Given the description of an element on the screen output the (x, y) to click on. 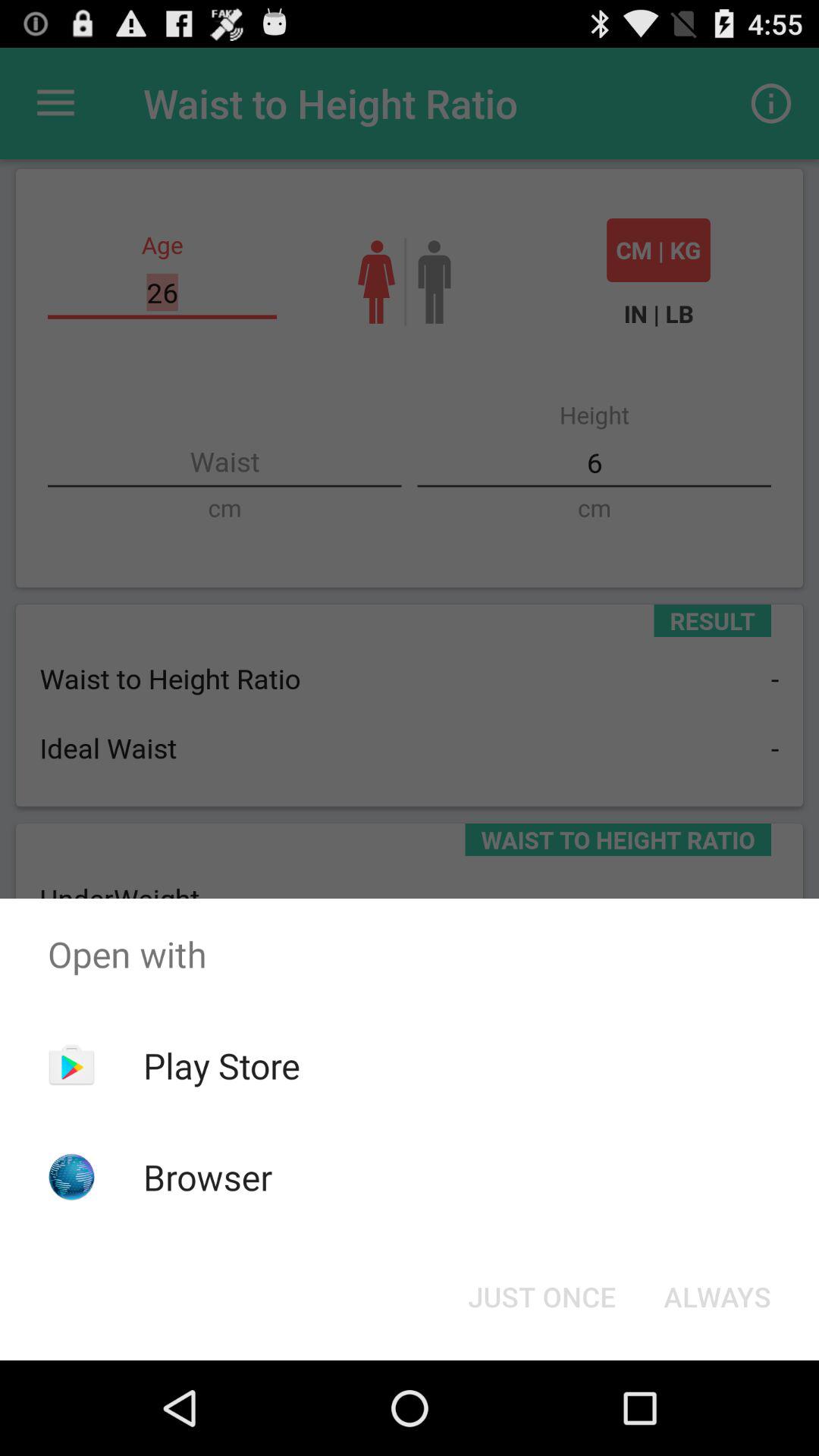
scroll until just once item (541, 1296)
